Given the description of an element on the screen output the (x, y) to click on. 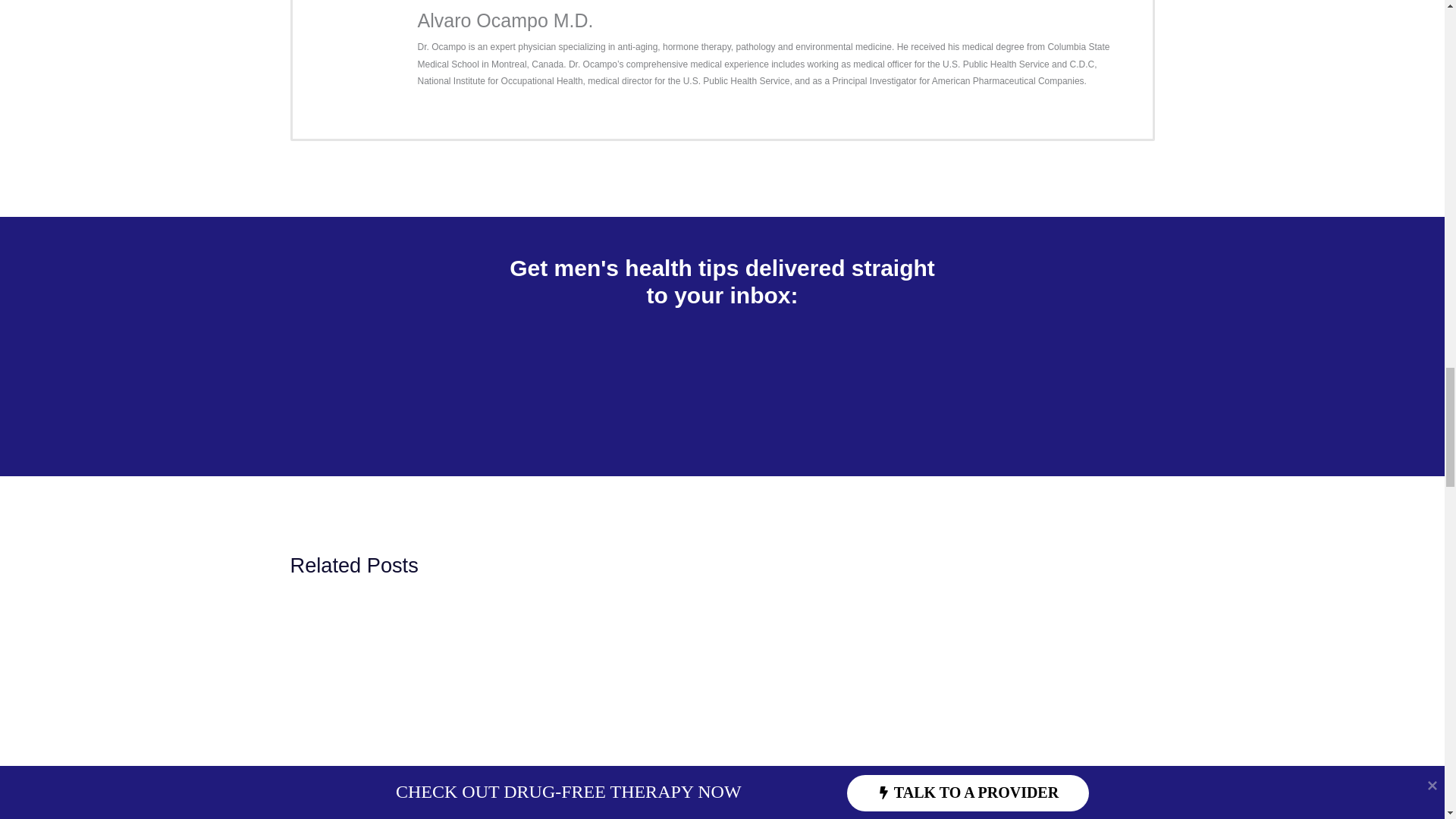
Form 0 (722, 381)
